Given the description of an element on the screen output the (x, y) to click on. 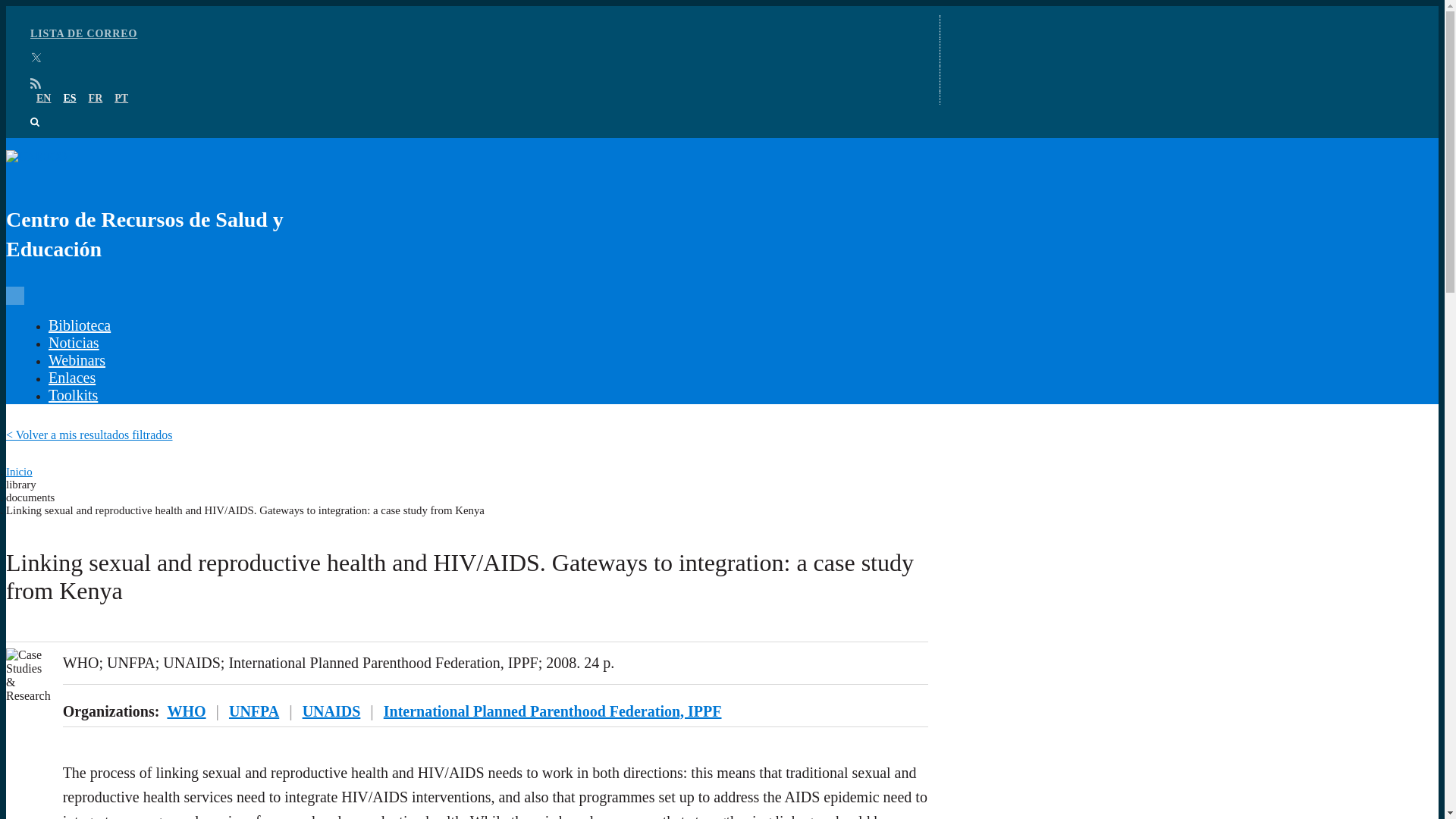
Enlaces (72, 377)
Inicio (18, 471)
International Planned Parenthood Federation, IPPF (553, 710)
Noticias (73, 342)
EN (43, 98)
LISTA DE CORREO (83, 33)
Webinars (76, 360)
UNAIDS (331, 710)
WHO (186, 710)
Biblioteca (79, 324)
